Given the description of an element on the screen output the (x, y) to click on. 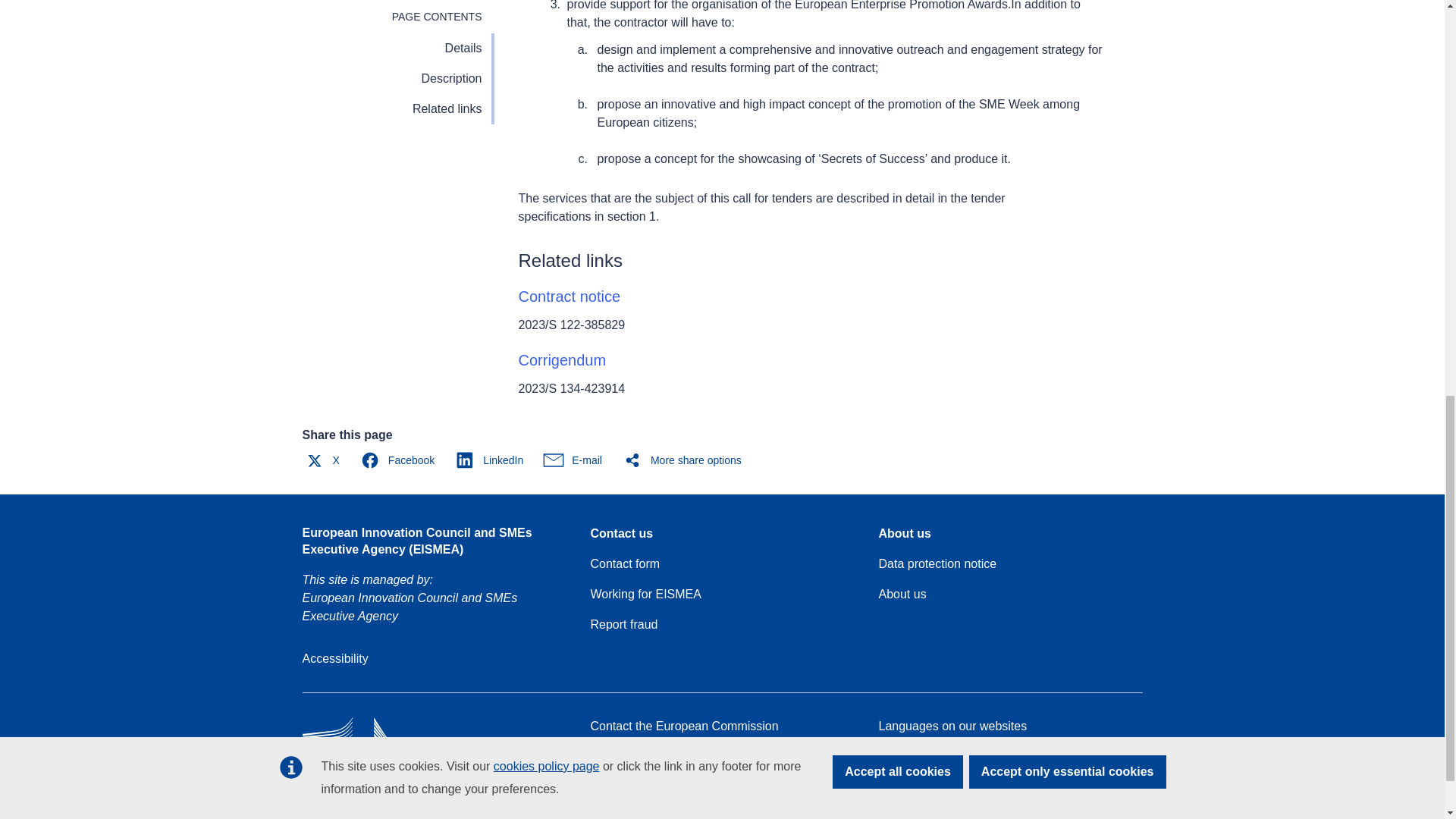
European Commission (411, 767)
Corrigendum (562, 360)
Contract notice (569, 296)
